Given the description of an element on the screen output the (x, y) to click on. 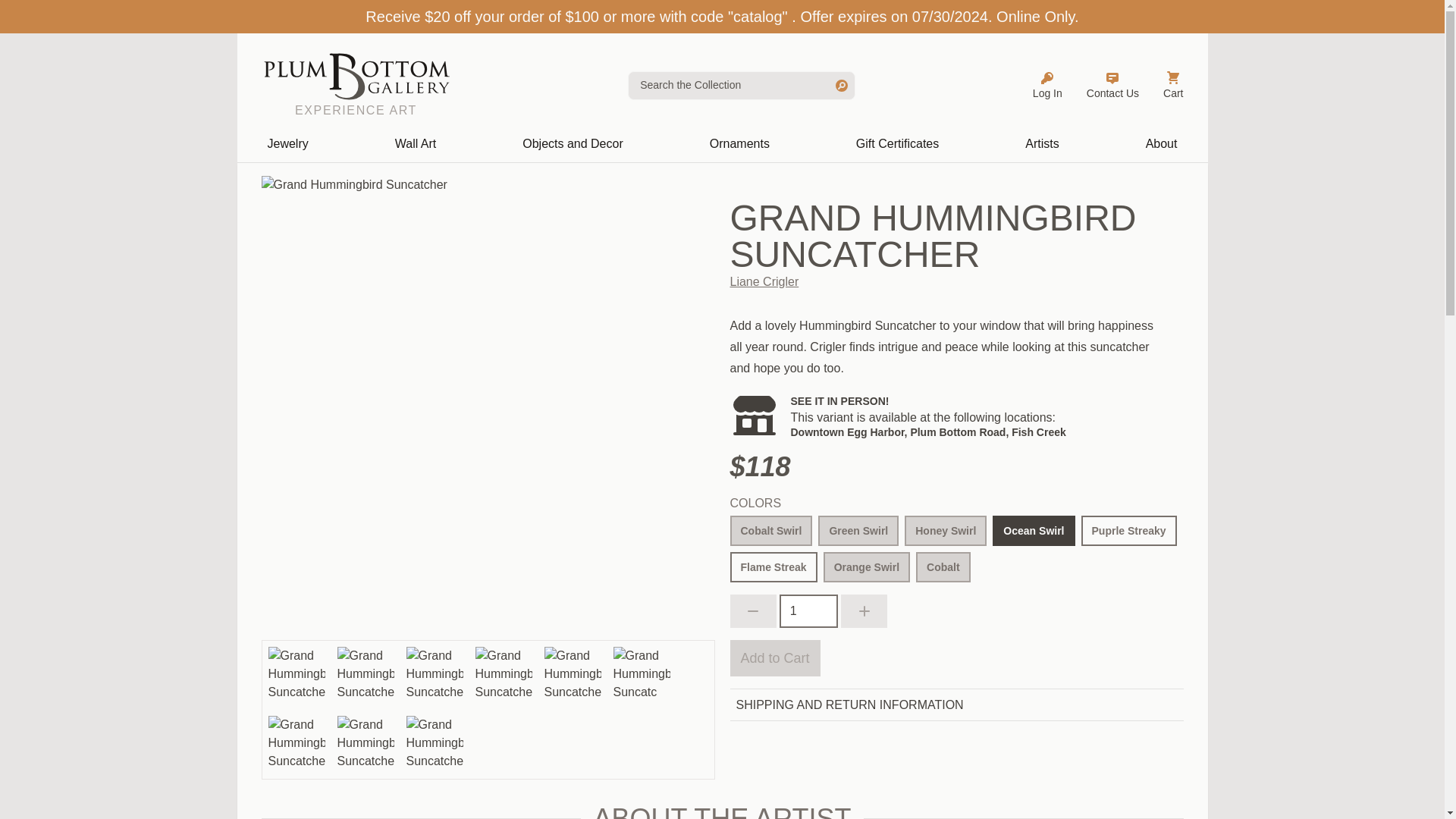
Artists (1041, 144)
Jewelry (287, 144)
About (1161, 144)
Log In (1047, 85)
Objects and Decor (572, 144)
1 (808, 611)
Cart (1172, 85)
Ornaments (739, 144)
EXPERIENCE ART (354, 85)
